Given the description of an element on the screen output the (x, y) to click on. 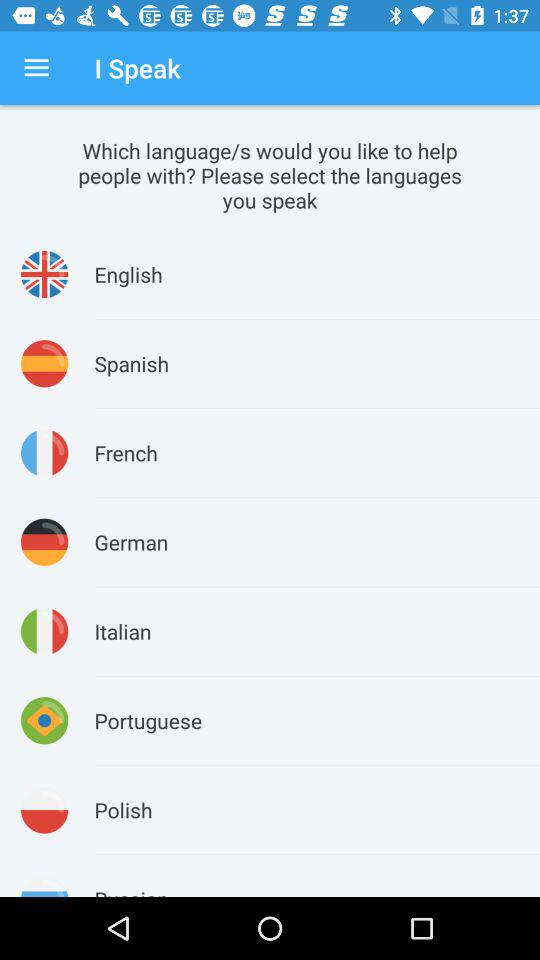
launch the app next to i speak (36, 68)
